Given the description of an element on the screen output the (x, y) to click on. 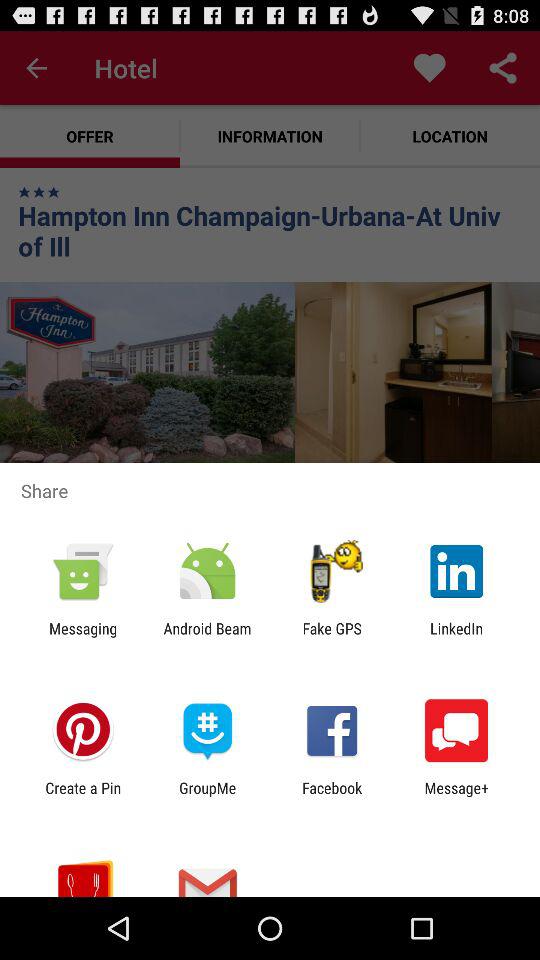
press the android beam icon (207, 637)
